Given the description of an element on the screen output the (x, y) to click on. 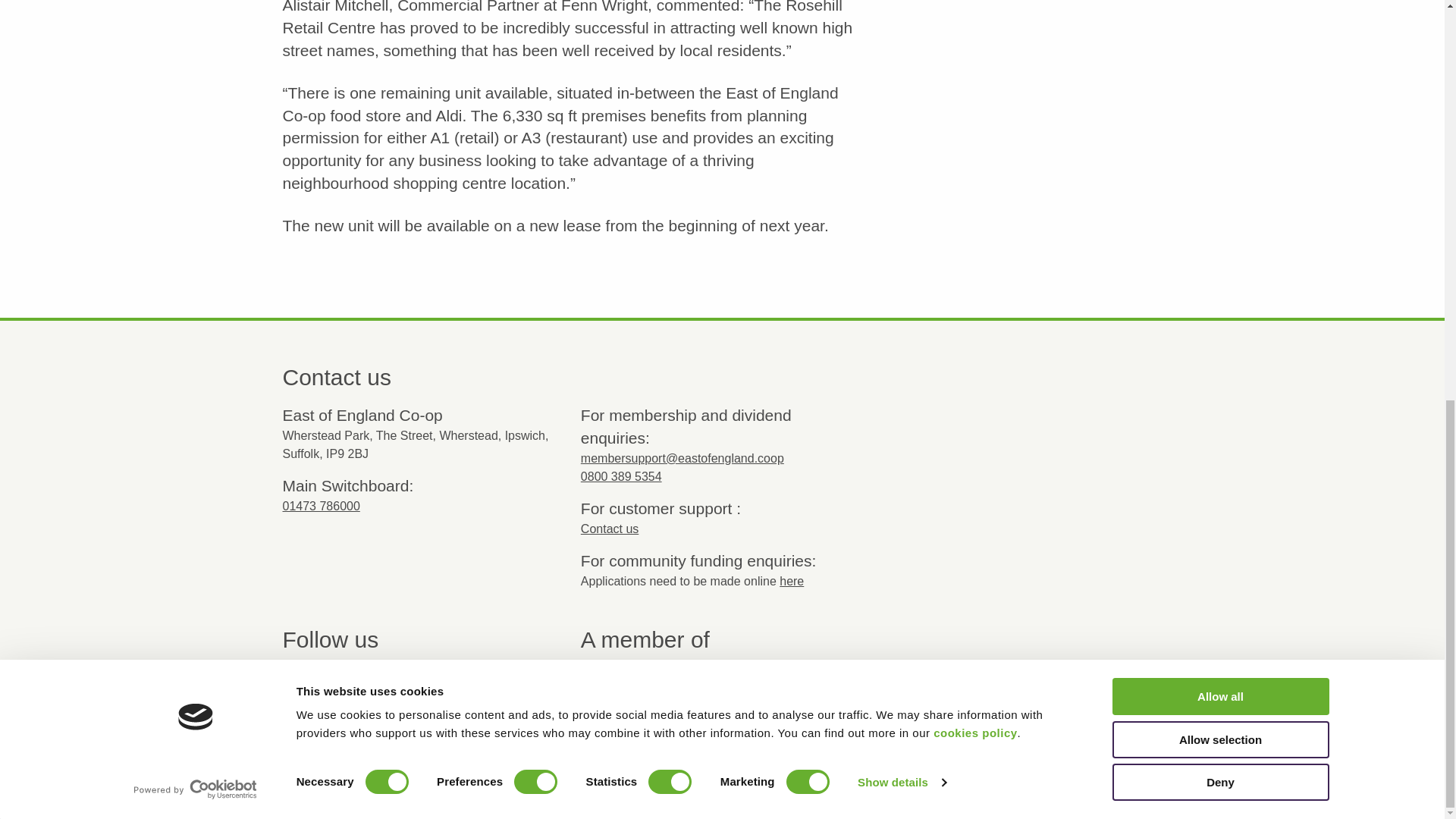
Show details (900, 6)
